Given the description of an element on the screen output the (x, y) to click on. 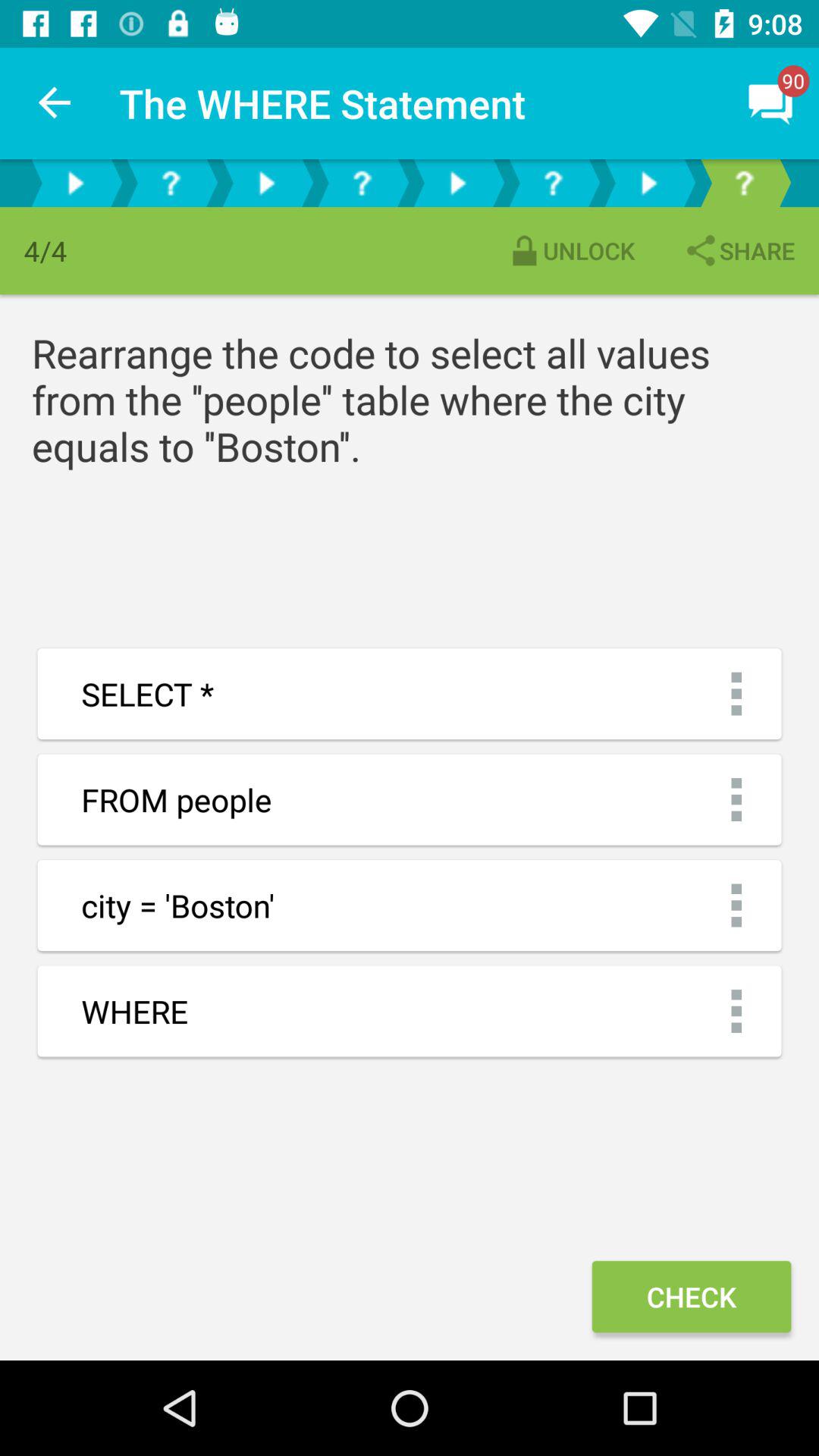
go back (648, 183)
